Given the description of an element on the screen output the (x, y) to click on. 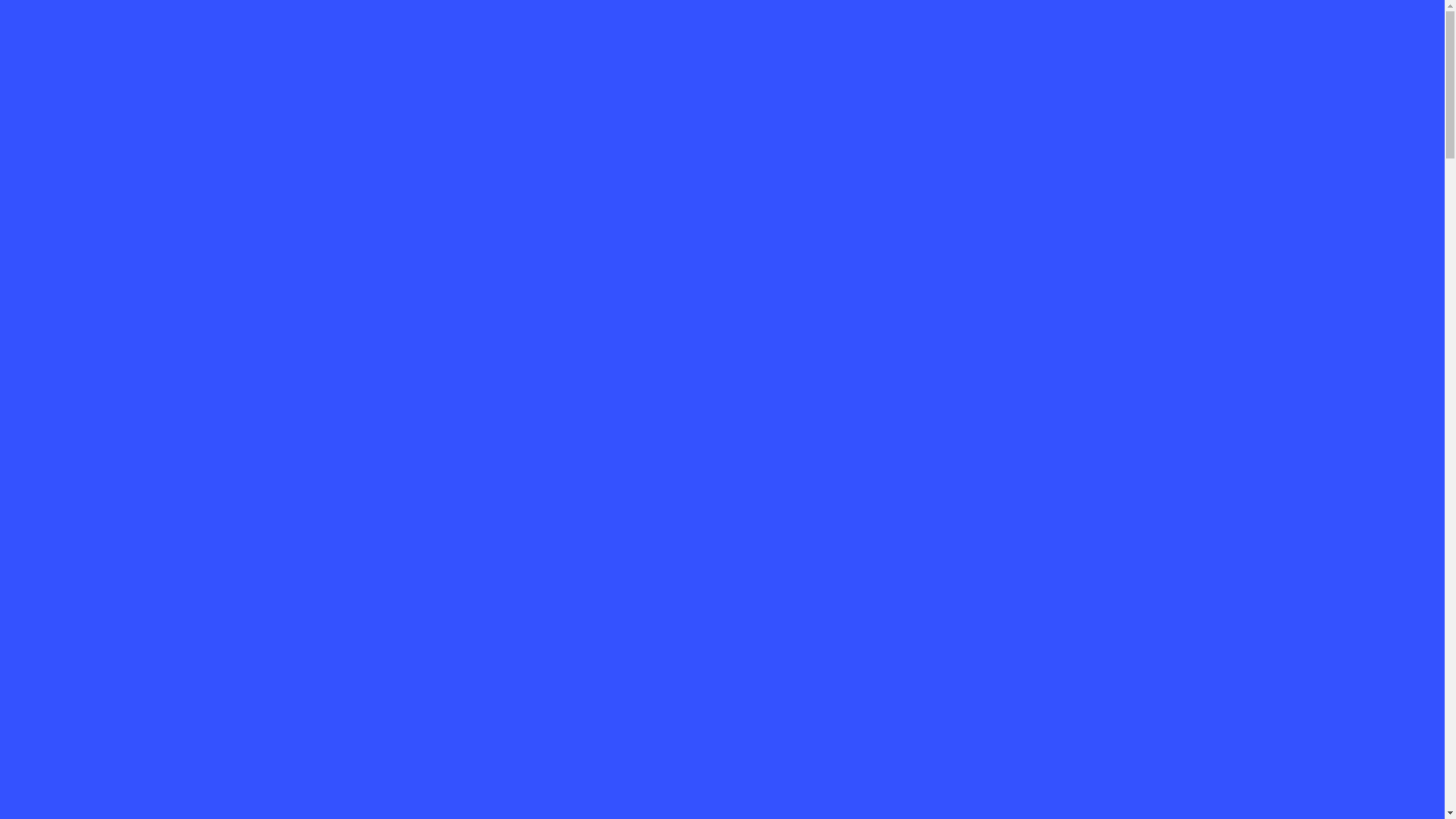
Work Element type: text (50, 407)
Home Element type: text (52, 366)
Get in Touch Element type: text (77, 428)
MDW Creative Element type: text (85, 387)
